Given the description of an element on the screen output the (x, y) to click on. 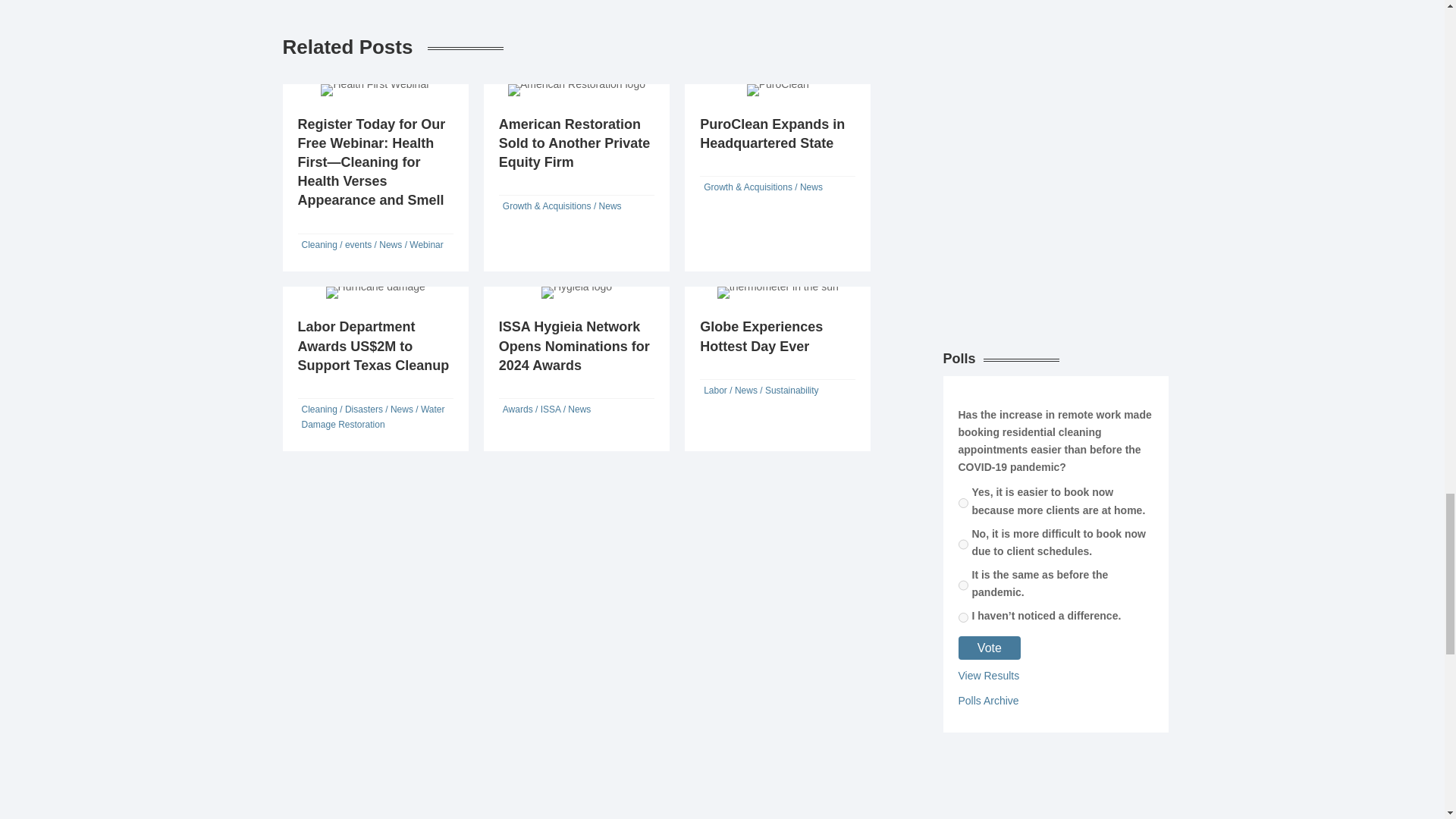
   Vote    (990, 648)
American Restoration logo (576, 90)
American Restoration Sold to Another Private Equity Firm (574, 143)
Health First 800 (374, 90)
